Given the description of an element on the screen output the (x, y) to click on. 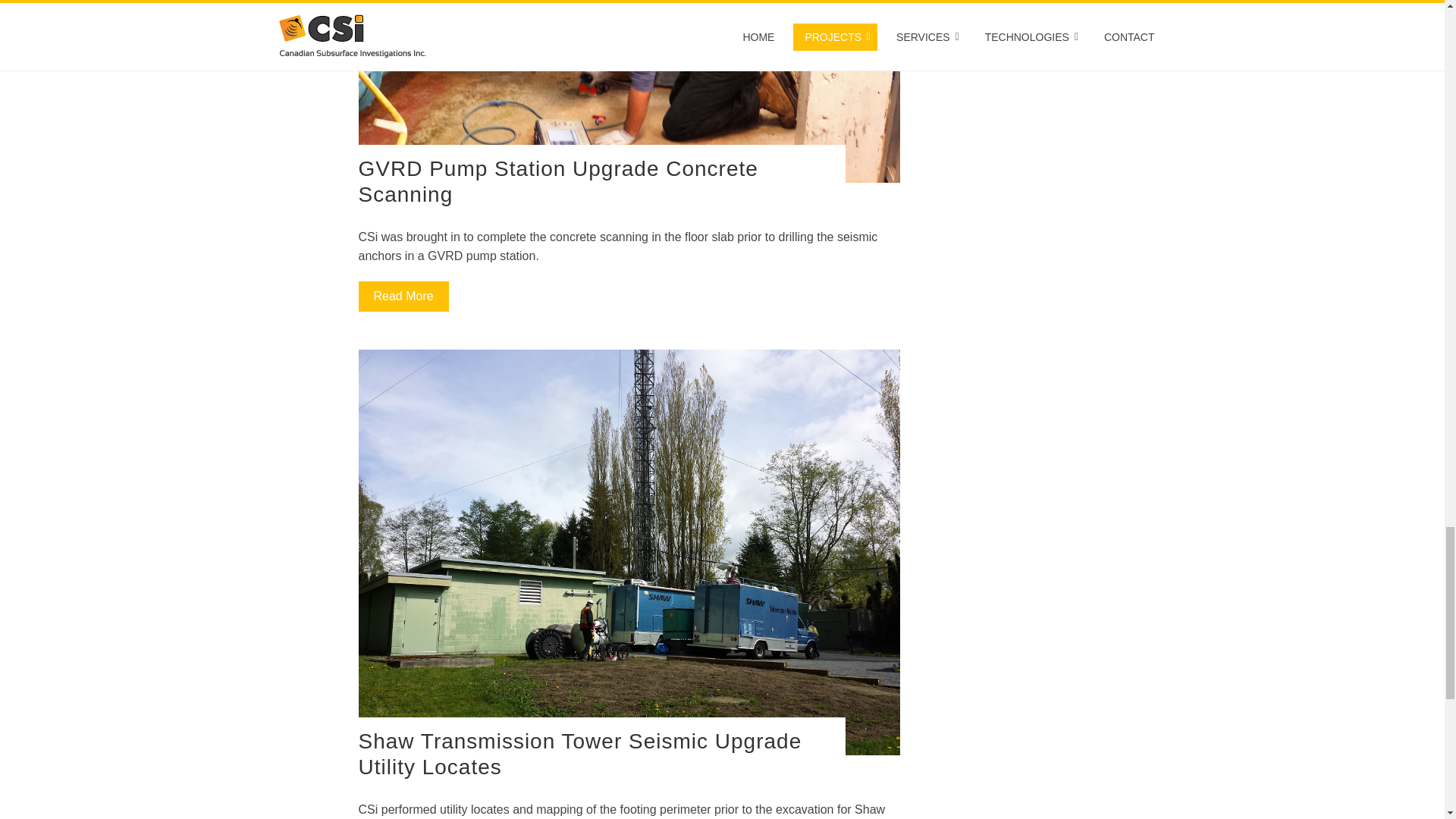
Read More (403, 296)
Shaw Transmission Tower Seismic Upgrade Utility Locates (580, 753)
GVRD Pump Station Upgrade Concrete Scanning (557, 181)
